Given the description of an element on the screen output the (x, y) to click on. 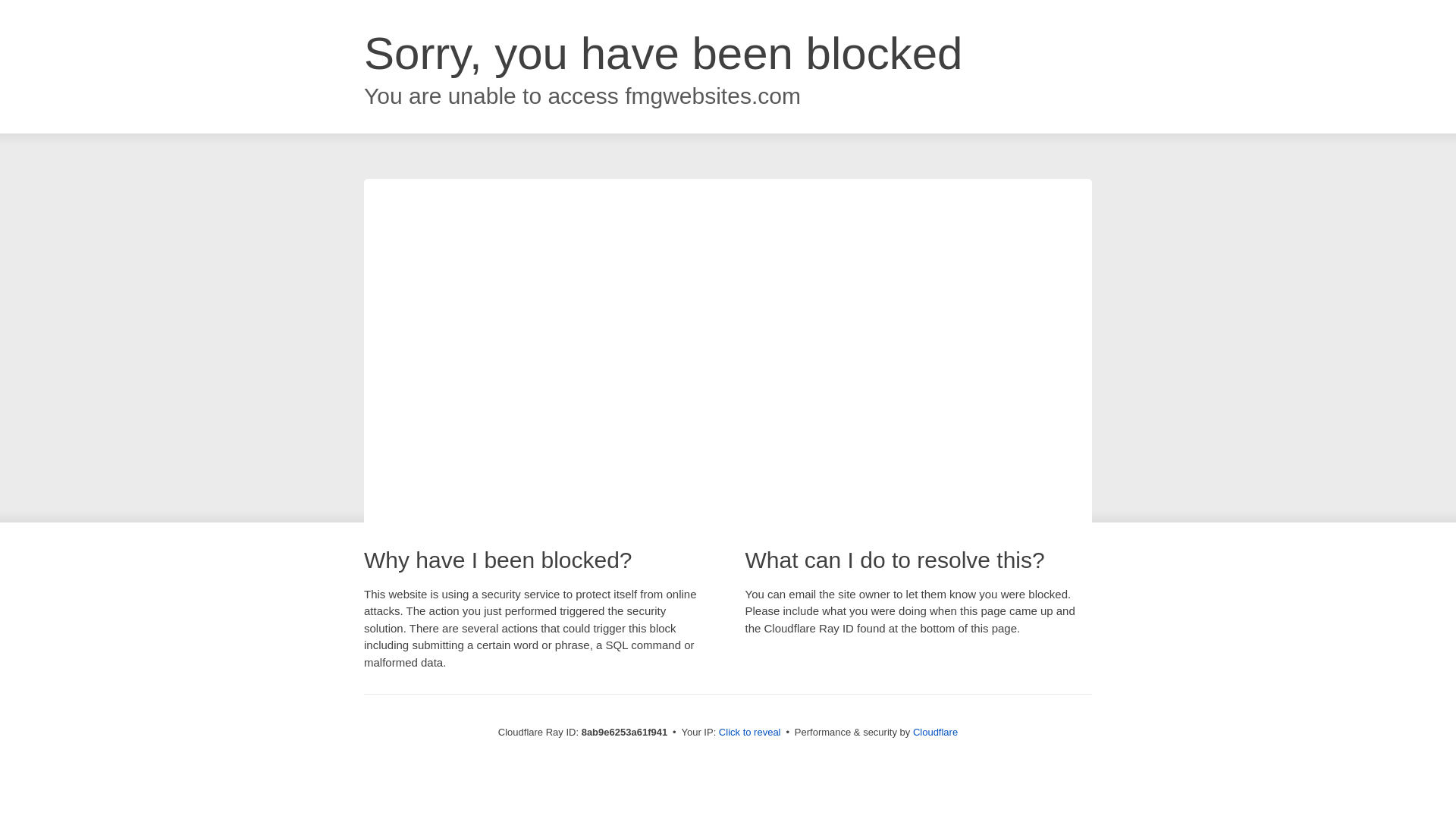
Click to reveal (749, 732)
Cloudflare (935, 731)
